Given the description of an element on the screen output the (x, y) to click on. 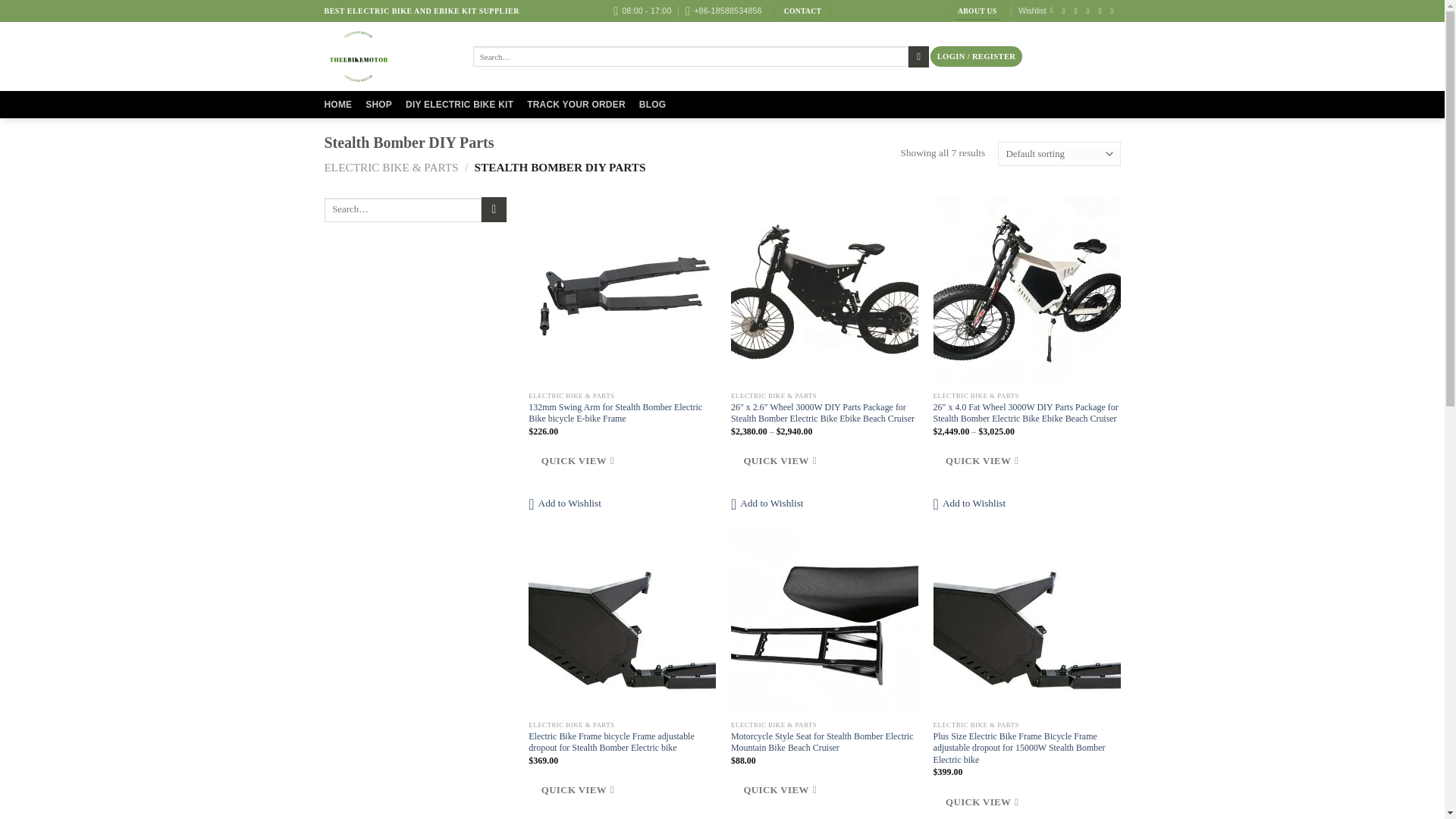
Send us an email (1090, 10)
TRACK YOUR ORDER (576, 103)
Call us (1102, 10)
Search (918, 56)
ABOUT US (977, 10)
Follow on Facebook (1066, 10)
CONTACT (802, 10)
Follow on Instagram (1077, 10)
HOME (338, 103)
08:00 - 17:00 (641, 11)
